Given the description of an element on the screen output the (x, y) to click on. 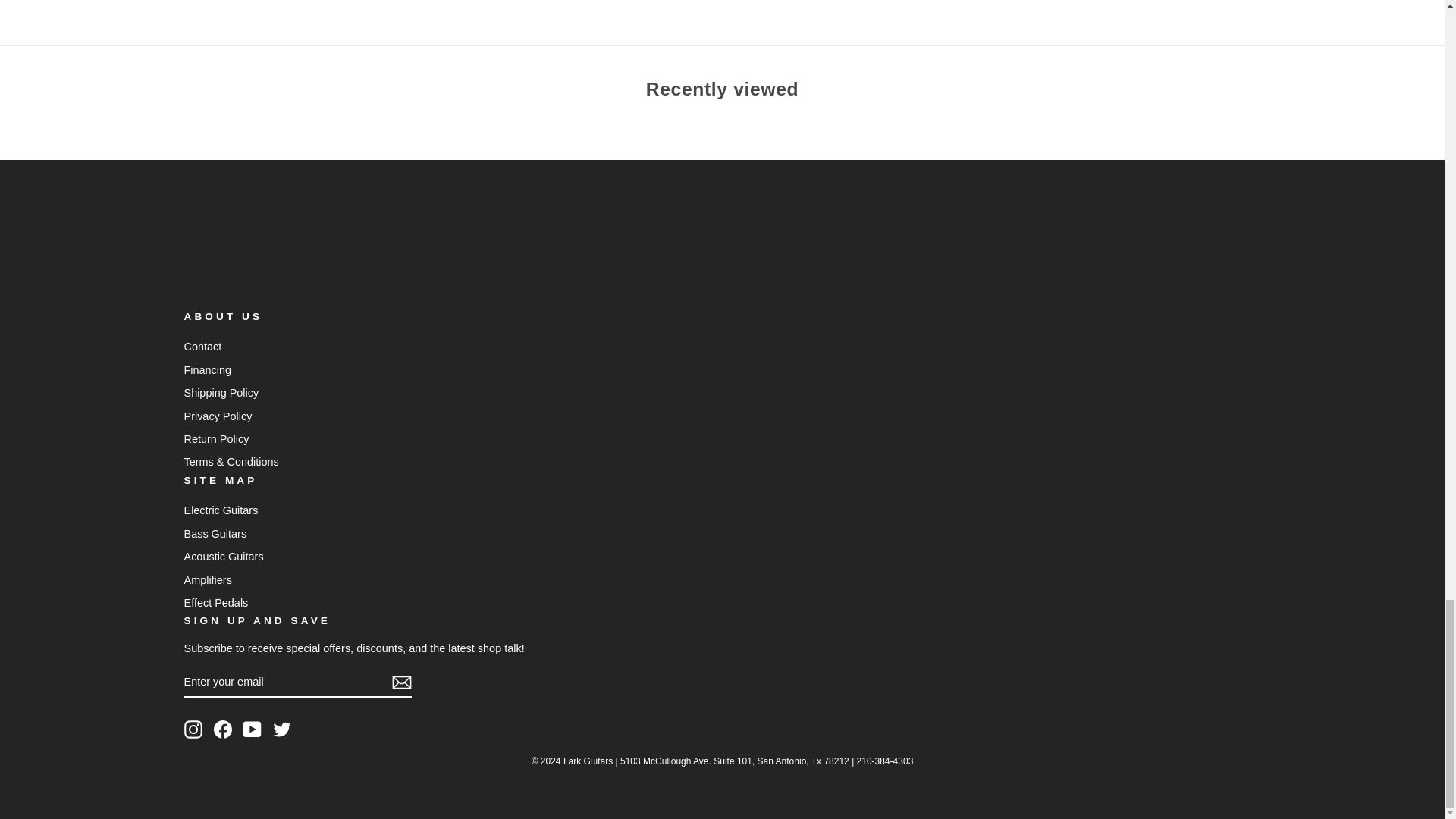
Lark Guitars on Instagram (192, 729)
Lark Guitars on Facebook (222, 729)
Lark Guitars on Twitter (282, 729)
Lark Guitars on YouTube (251, 729)
